Given the description of an element on the screen output the (x, y) to click on. 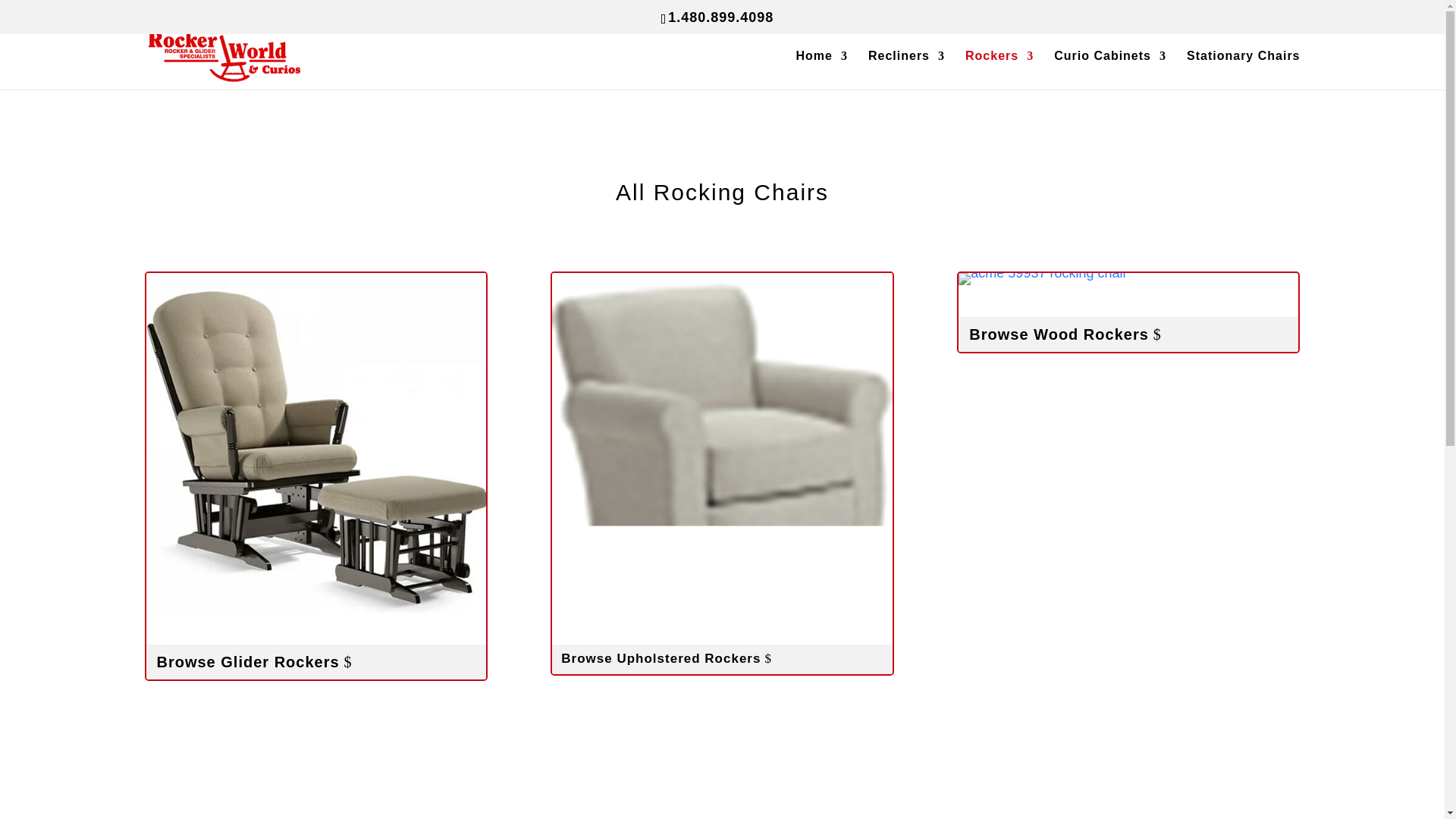
Jena-Glider-Chair (314, 442)
Browse Wood Rockers (1128, 334)
Curio Cabinets (1110, 69)
Rockers (999, 69)
Recliners (905, 69)
Stationary Chairs (1243, 69)
Browse Glider Rockers (314, 661)
Best-Gemily-Upholstered-Swivel-Glider-Chair-2837 (721, 442)
Home (821, 69)
Browse Upholstered Rockers (721, 659)
Rocking-Chair-Imperial-73995 (1042, 278)
